Given the description of an element on the screen output the (x, y) to click on. 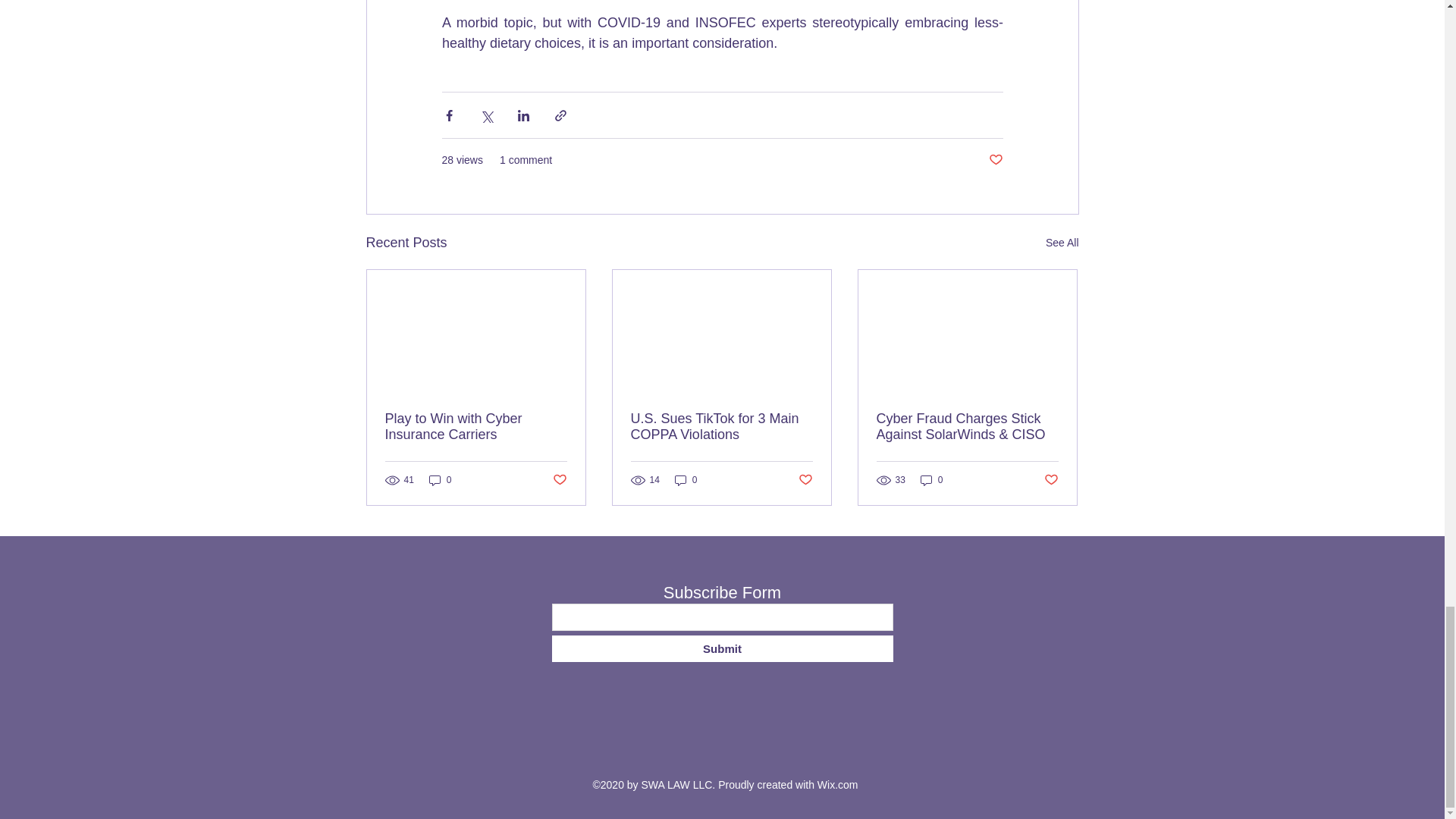
0 (440, 480)
See All (1061, 242)
Submit (722, 648)
Post not marked as liked (804, 480)
U.S. Sues TikTok for 3 Main COPPA Violations (721, 427)
Post not marked as liked (1050, 480)
0 (931, 480)
0 (685, 480)
Play to Win with Cyber Insurance Carriers (476, 427)
Post not marked as liked (995, 160)
